Given the description of an element on the screen output the (x, y) to click on. 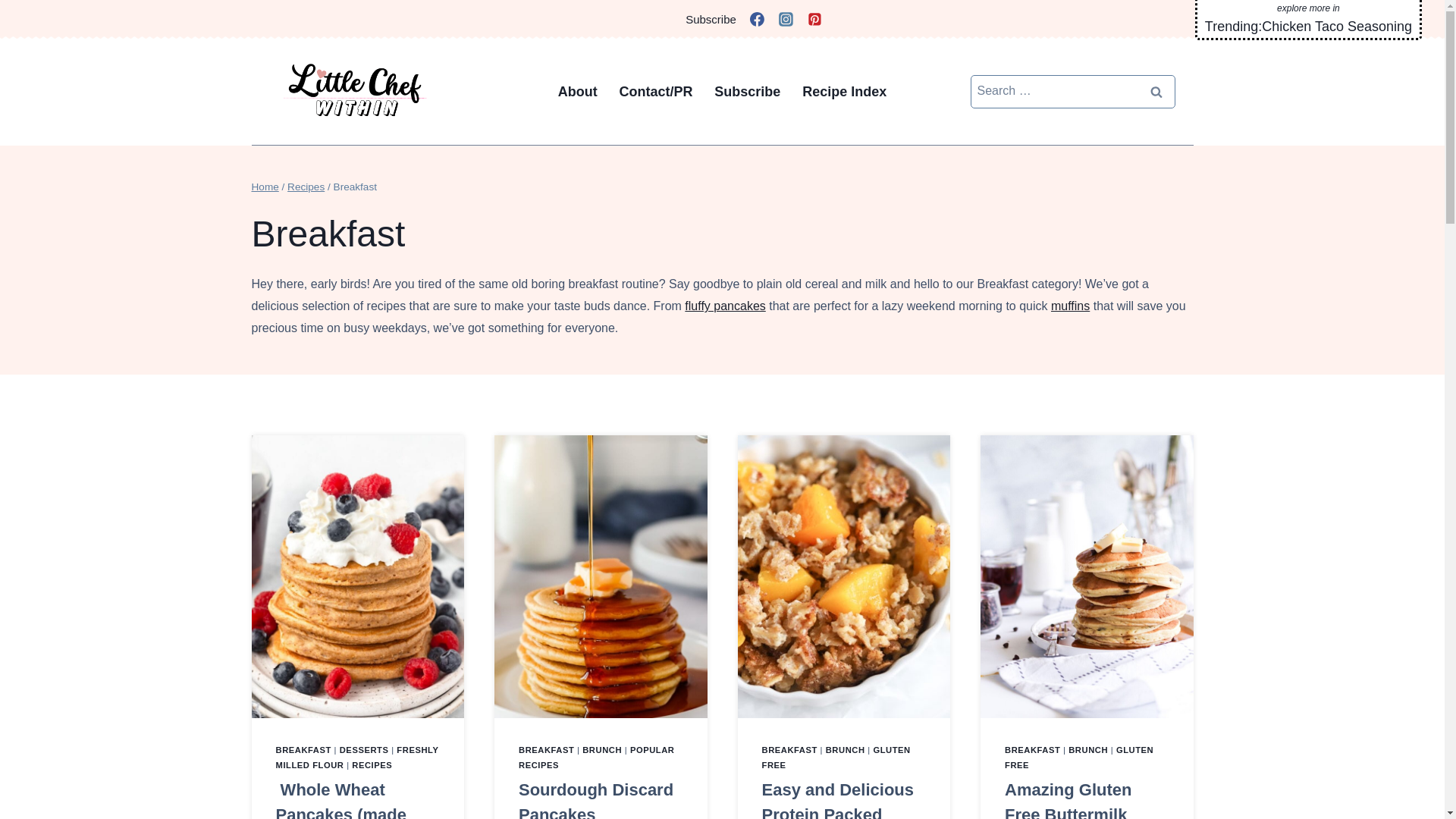
Search (1155, 91)
Subscribe (710, 19)
Sourdough Discard Pancakes (595, 799)
BREAKFAST (303, 749)
Recipe Index (845, 91)
Search (1155, 91)
RECIPES (371, 764)
Easy and Delicious Protein Packed Baked Oatmeal (837, 799)
BRUNCH (601, 749)
Recipes (305, 186)
BREAKFAST (1031, 749)
About (577, 91)
BRUNCH (1088, 749)
POPULAR RECIPES (596, 757)
GLUTEN FREE (1078, 757)
